Given the description of an element on the screen output the (x, y) to click on. 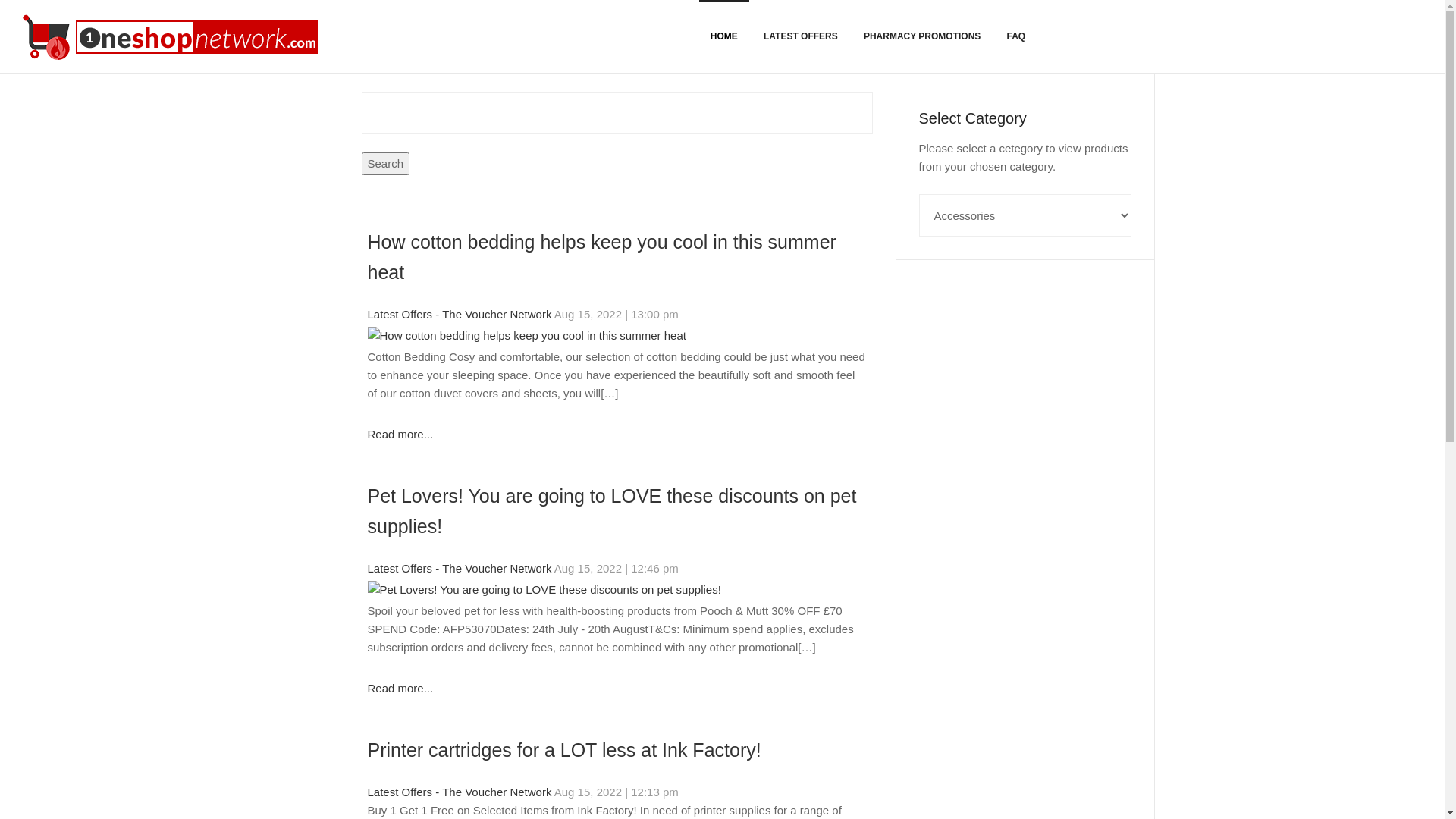
PHARMACY PROMOTIONS Element type: text (921, 36)
Read more... Element type: text (400, 434)
How cotton bedding helps keep you cool in this summer heat Element type: text (601, 257)
HOME Element type: text (724, 36)
Read more... Element type: text (400, 688)
LATEST OFFERS Element type: text (800, 36)
Latest Offers - The Voucher Network Element type: text (459, 568)
Latest Offers - The Voucher Network Element type: text (459, 792)
Search Element type: text (384, 163)
The Voucher Network Element type: hover (174, 36)
FAQ Element type: text (1016, 36)
Latest Offers - The Voucher Network Element type: text (459, 314)
Printer cartridges for a LOT less at Ink Factory! Element type: text (563, 750)
